Given the description of an element on the screen output the (x, y) to click on. 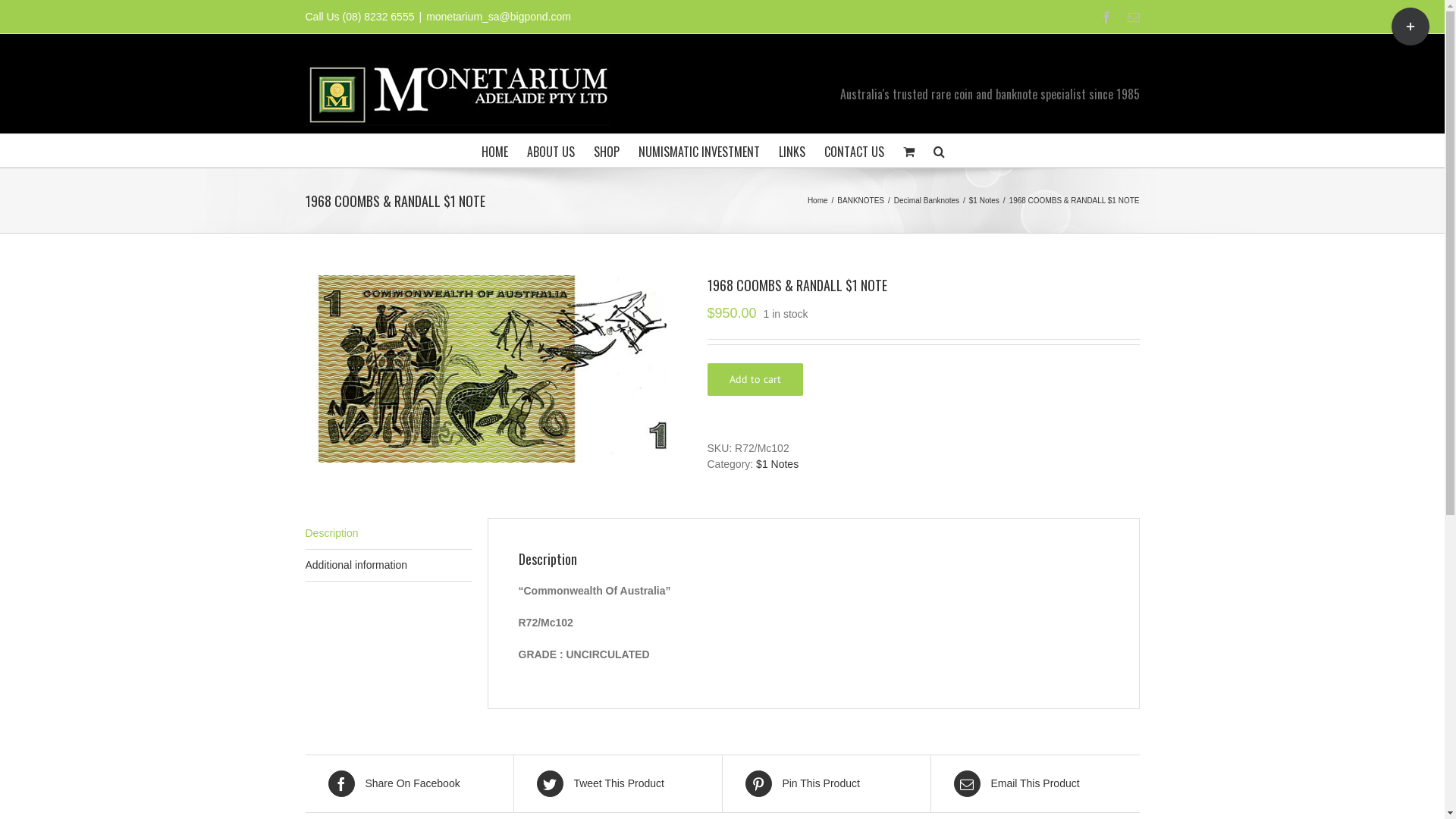
monetarium_sa@bigpond.com Element type: text (498, 16)
$1 Notes Element type: text (984, 200)
CONTACT US Element type: text (853, 150)
HOME Element type: text (493, 150)
Search Element type: hover (938, 150)
1966 COOMBS & WILSON $1 NOTE Element type: hover (494, 368)
Toggle Sliding Bar Area Element type: text (1410, 26)
BANKNOTES Element type: text (860, 200)
Email Element type: text (1132, 16)
LINKS Element type: text (791, 150)
Add to cart Element type: text (754, 379)
Email This Product Element type: text (1035, 783)
$1 Notes Element type: text (777, 464)
ABOUT US Element type: text (550, 150)
SHOP Element type: text (605, 150)
NUMISMATIC INVESTMENT Element type: text (698, 150)
Home Element type: text (817, 200)
Facebook Element type: text (1105, 16)
Tweet This Product Element type: text (617, 783)
Additional information Element type: text (387, 565)
Share On Facebook Element type: text (408, 783)
Description Element type: text (387, 533)
Decimal Banknotes Element type: text (926, 200)
Pin This Product Element type: text (825, 783)
